Given the description of an element on the screen output the (x, y) to click on. 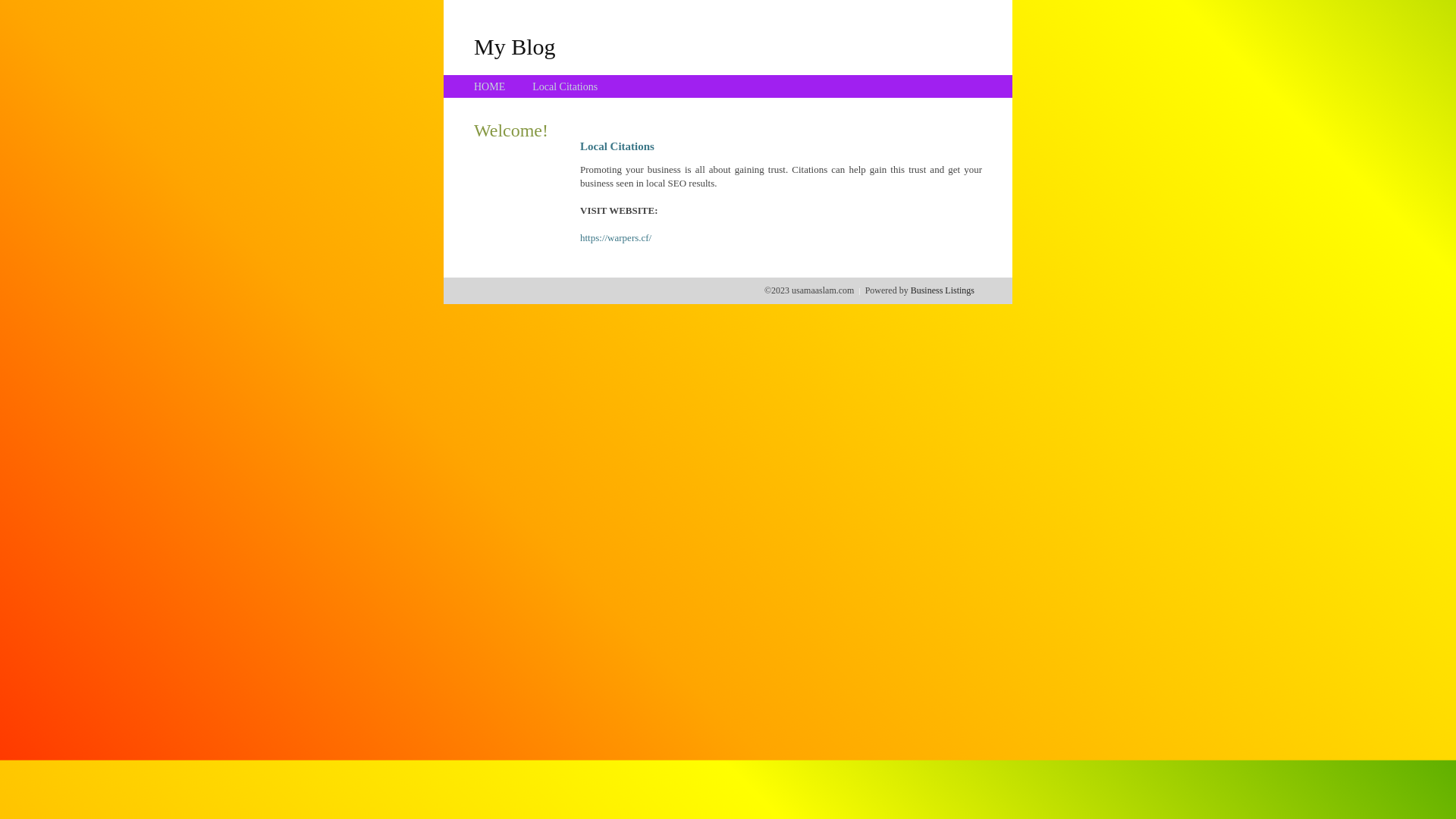
Local Citations Element type: text (564, 86)
My Blog Element type: text (514, 46)
HOME Element type: text (489, 86)
Business Listings Element type: text (942, 290)
https://warpers.cf/ Element type: text (615, 237)
